Given the description of an element on the screen output the (x, y) to click on. 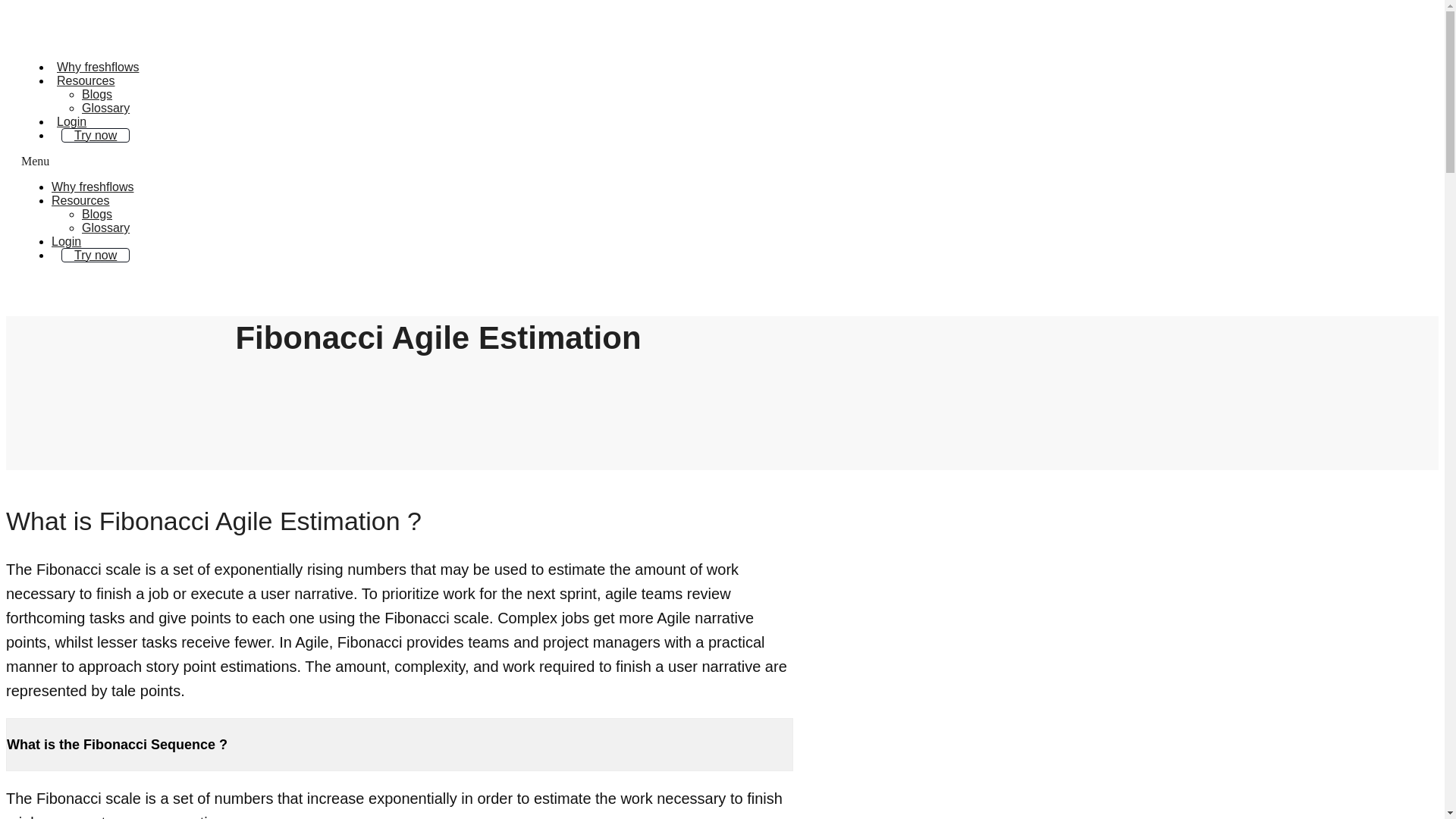
Login (65, 241)
Why freshflows (91, 186)
Blogs (96, 214)
Login (70, 121)
Blogs (96, 93)
Resources (84, 80)
Glossary (105, 227)
Try now (95, 134)
Resources (79, 200)
Glossary (105, 107)
Why freshflows (97, 66)
Try now (95, 255)
